Given the description of an element on the screen output the (x, y) to click on. 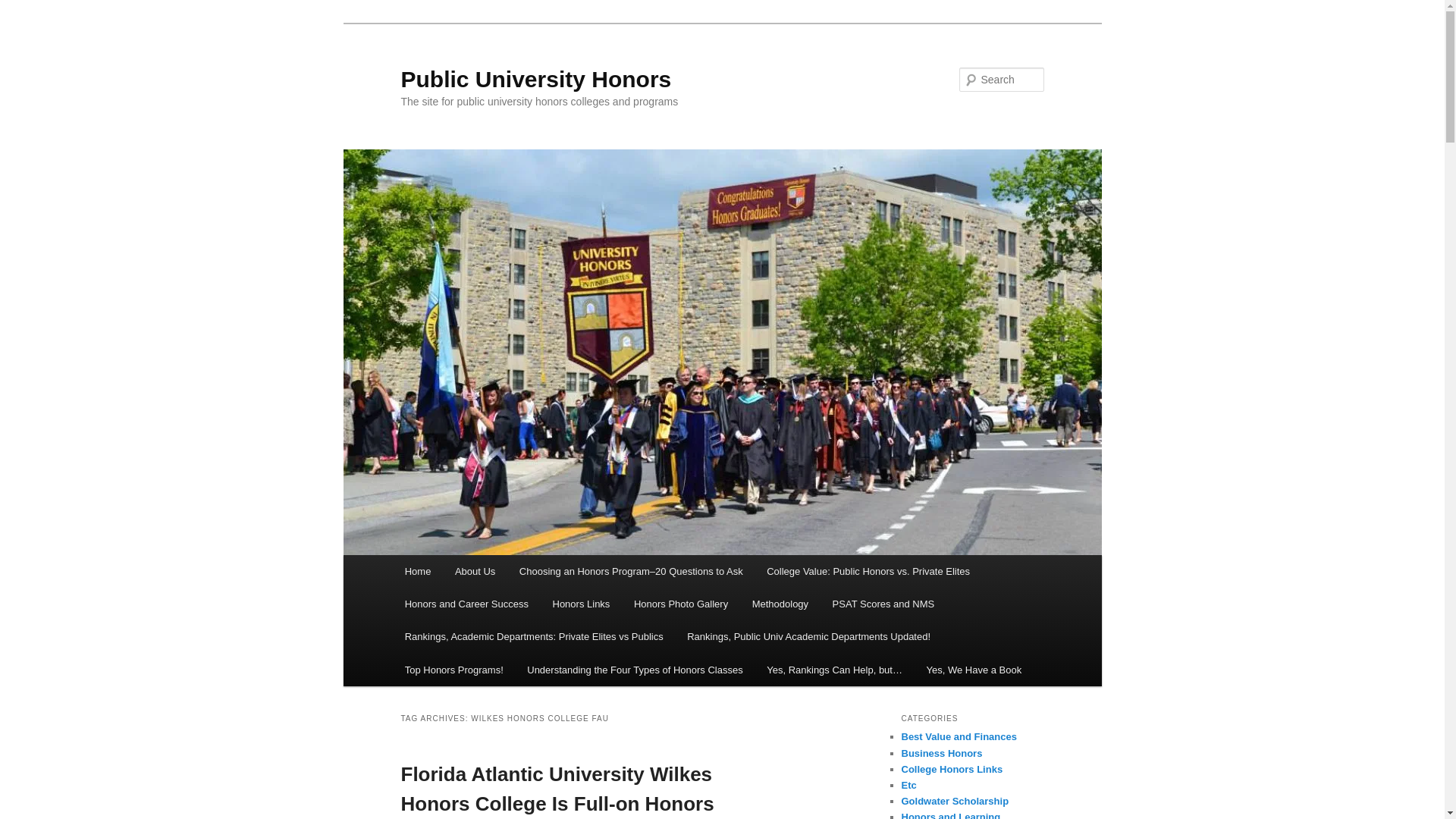
Home (417, 571)
Rankings, Public Univ Academic Departments Updated! (808, 635)
Understanding the Four Types of Honors Classes (635, 669)
Public University Honors (535, 78)
Yes, We Have a Book (973, 669)
College Value: Public Honors vs. Private Elites (867, 571)
Honors and Career Success (466, 603)
About Us (474, 571)
Methodology (780, 603)
Honors Photo Gallery (680, 603)
PSAT Scores and NMS (883, 603)
Search (24, 8)
Top Honors Programs! (454, 669)
